Given the description of an element on the screen output the (x, y) to click on. 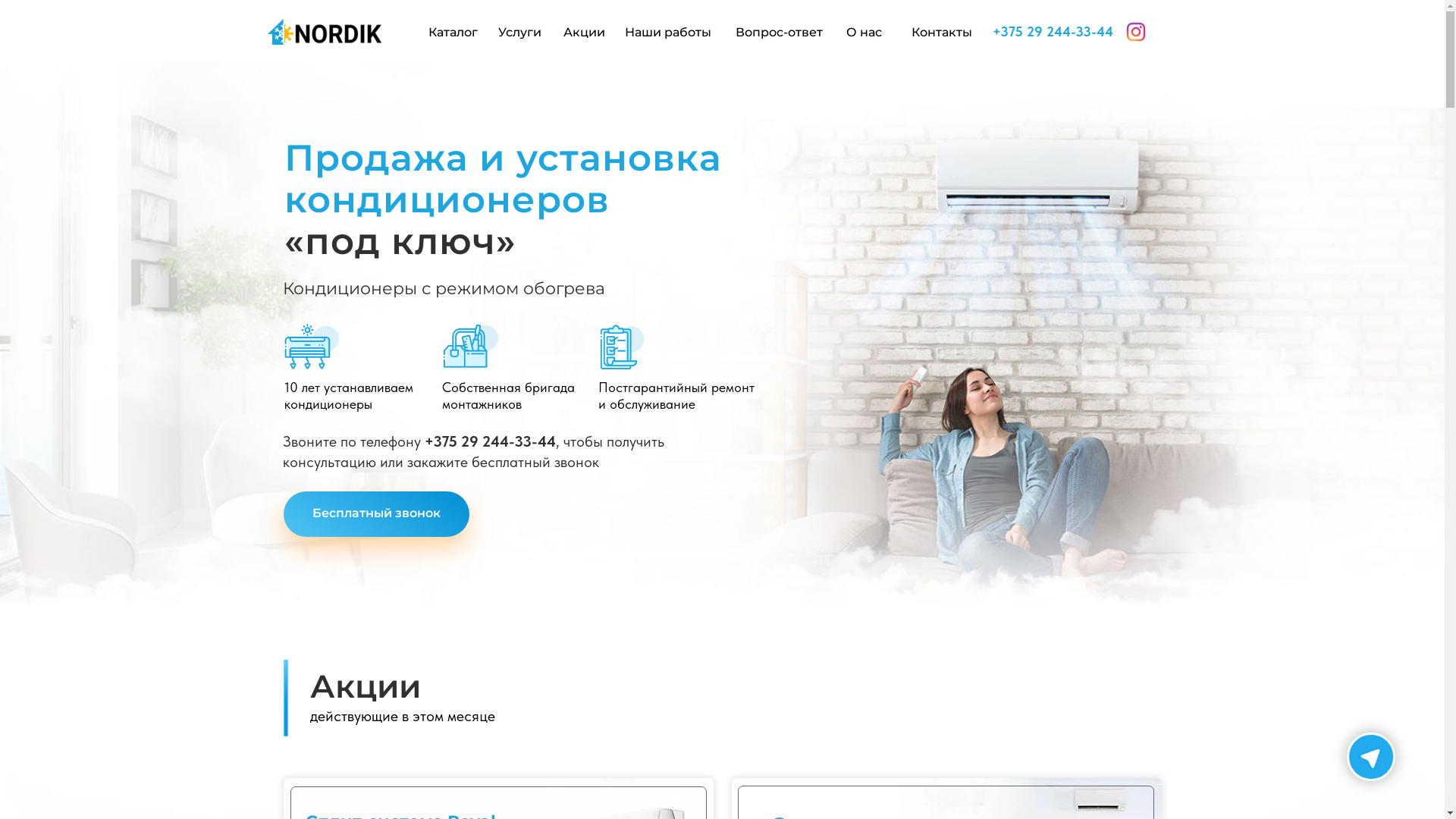
+375 29 244-33-44 Element type: text (1052, 31)
+375 29 244-33-44 Element type: text (489, 441)
